Given the description of an element on the screen output the (x, y) to click on. 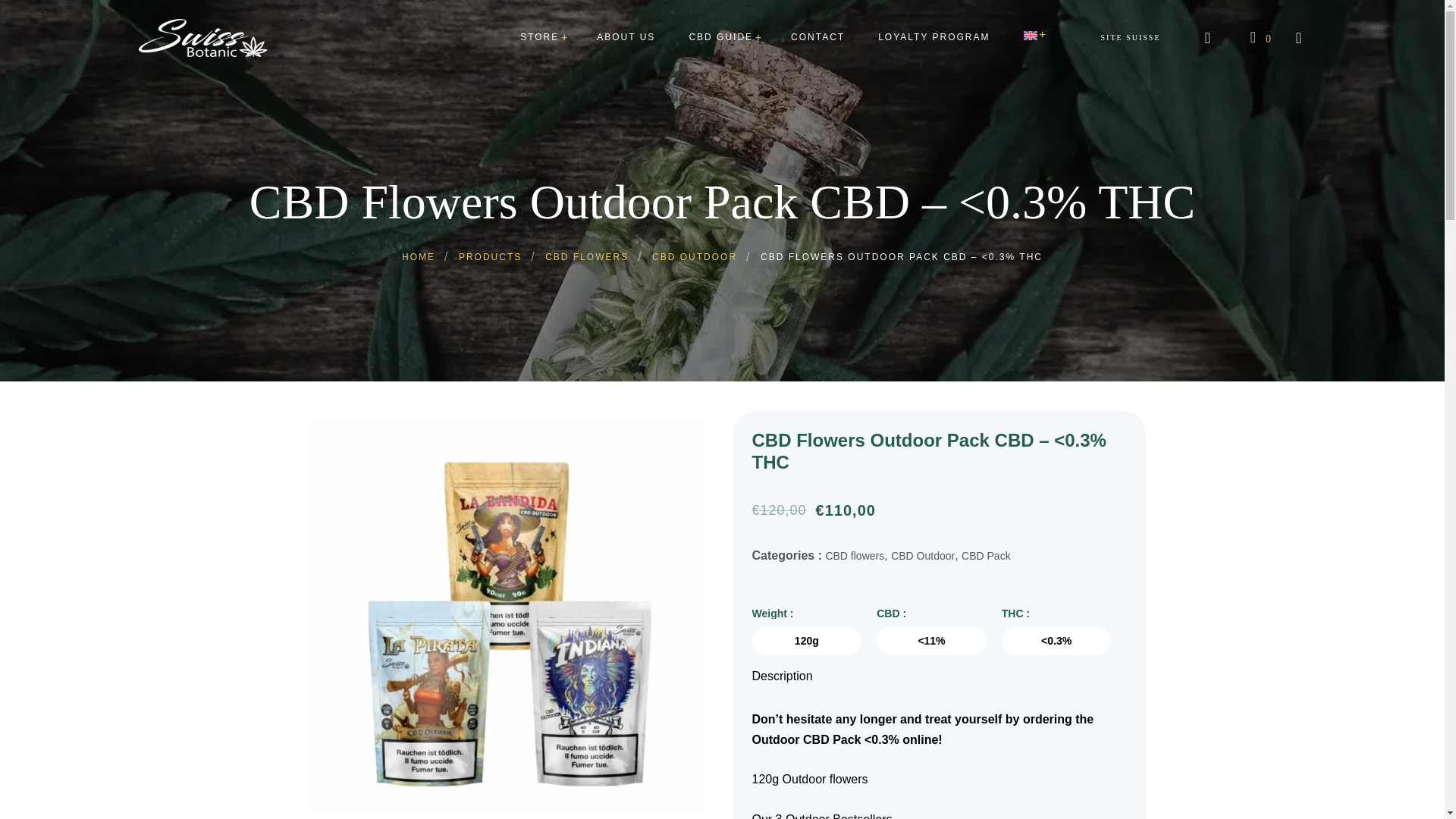
Go to Products. (489, 256)
CONTACT (817, 37)
View your shopping cart (1260, 37)
ABOUT US (625, 37)
STORE (539, 37)
Go to the CBD flowers Category archives. (586, 256)
LOYALTY PROGRAM (933, 37)
Go to the CBD Outdoor Category archives. (694, 256)
CBD GUIDE (720, 37)
Go to Home. (418, 256)
